Given the description of an element on the screen output the (x, y) to click on. 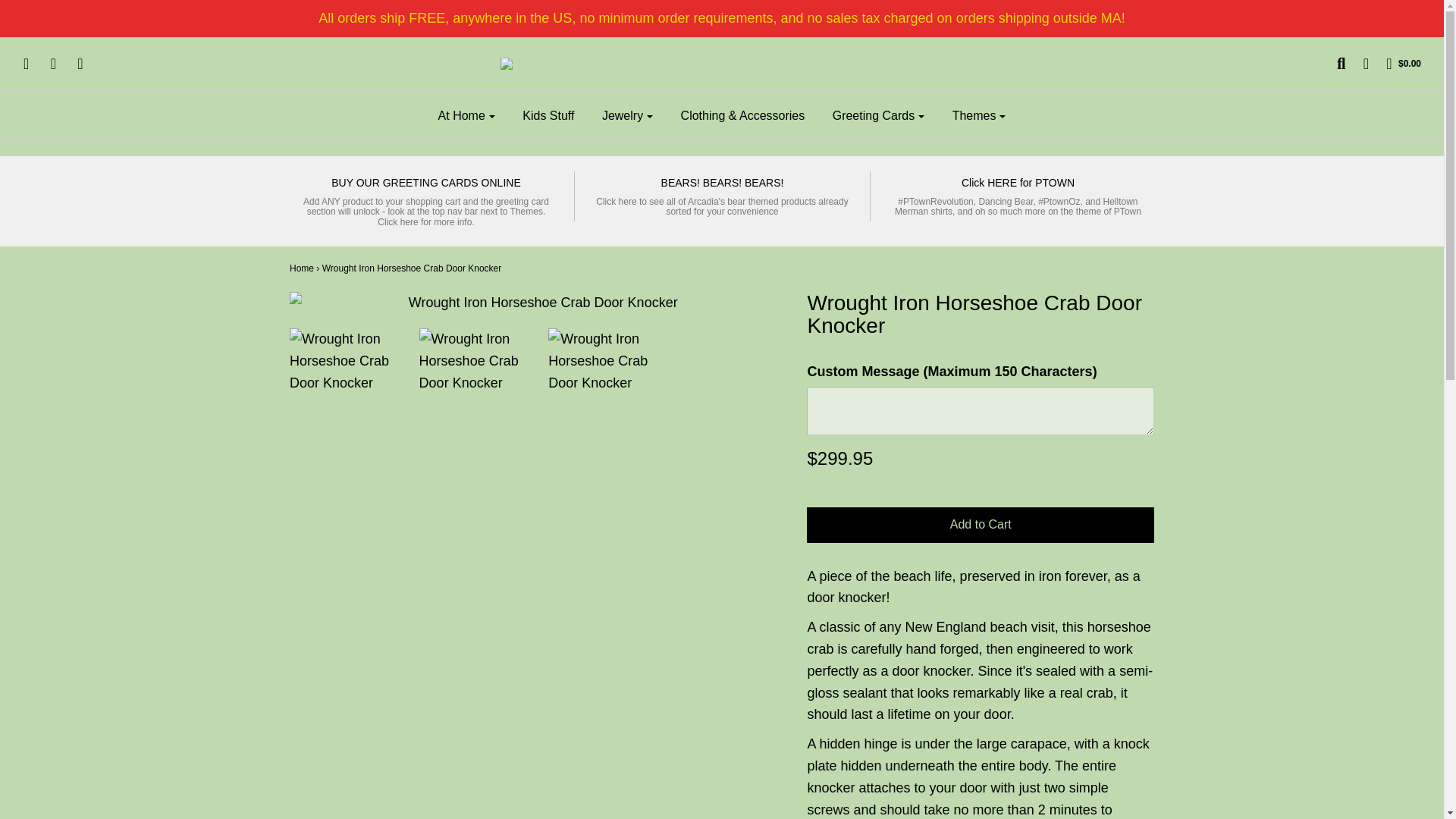
Cart (1396, 63)
Wrought Iron Horseshoe Crab Door Knocker (472, 360)
Wrought Iron Horseshoe Crab Door Knocker (342, 360)
Wrought Iron Horseshoe Crab Door Knocker (601, 360)
At Home (466, 115)
Log in (1358, 63)
Search (1333, 63)
Back to the frontpage (301, 267)
